Given the description of an element on the screen output the (x, y) to click on. 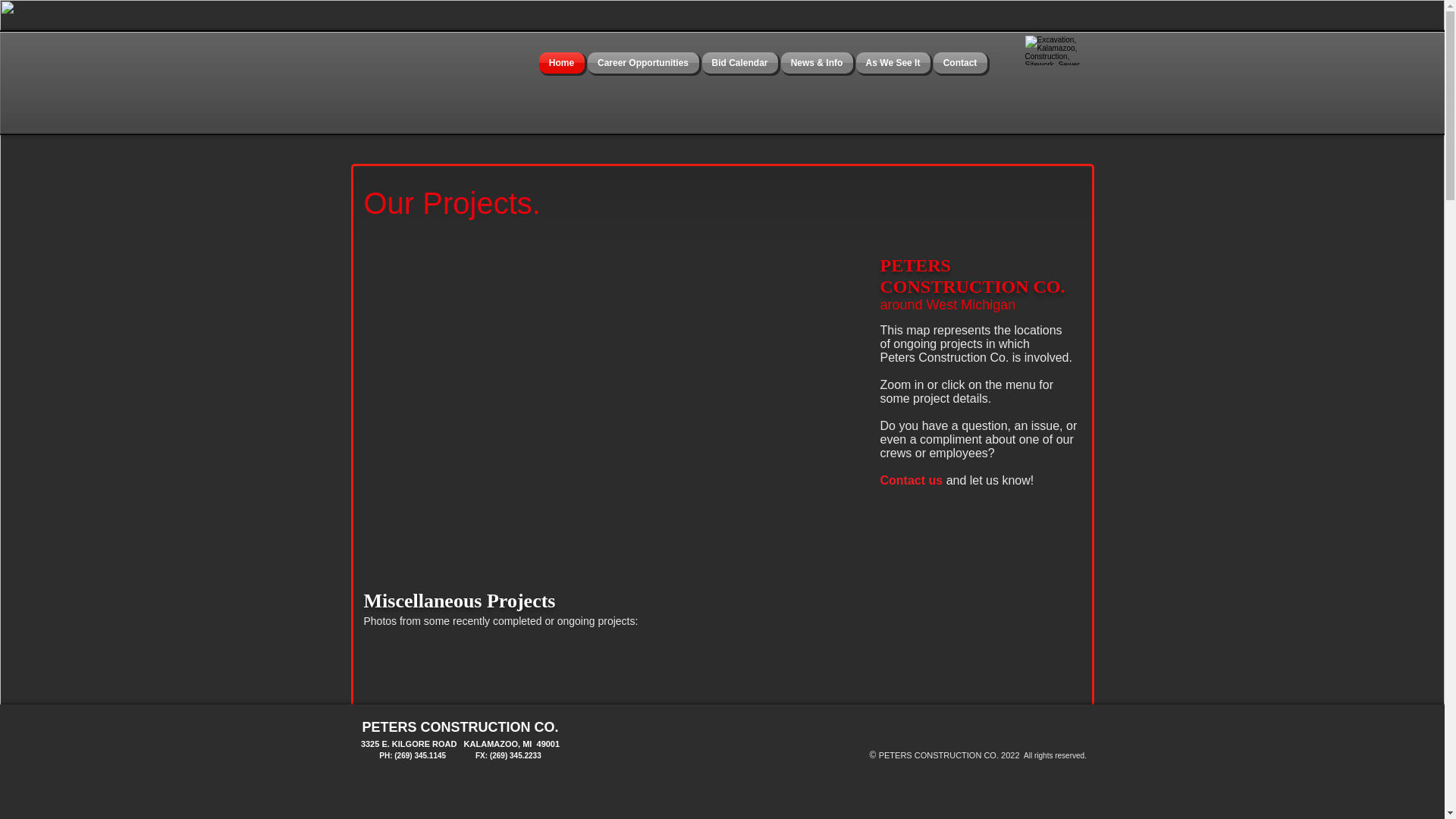
Bid Calendar (739, 62)
Career Opportunities (642, 62)
Peters Construction MITA Member (1057, 50)
As We See It (892, 62)
Home (561, 62)
Contact (959, 62)
Contact us (910, 480)
